Given the description of an element on the screen output the (x, y) to click on. 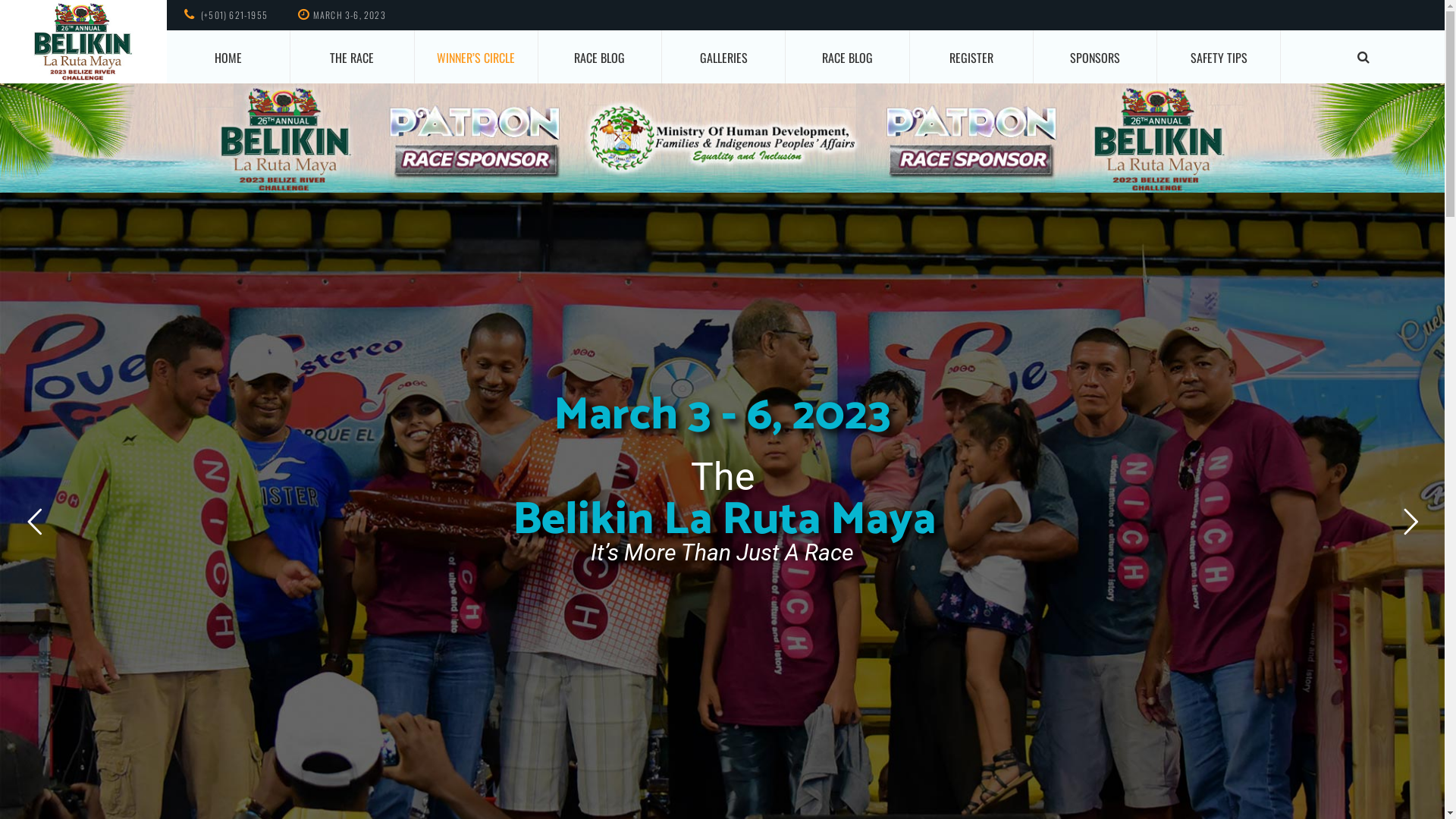
RACE BLOG Element type: text (599, 56)
RACE BLOG Element type: text (846, 56)
SAFETY TIPS Element type: text (1218, 56)
Open search Element type: hover (1362, 56)
REGISTER Element type: text (971, 56)
THE RACE Element type: text (351, 56)
HOME Element type: text (227, 56)
GALLERIES Element type: text (723, 56)
SPONSORS Element type: text (1094, 56)
(+501) 621-1955 Element type: text (233, 14)
